Given the description of an element on the screen output the (x, y) to click on. 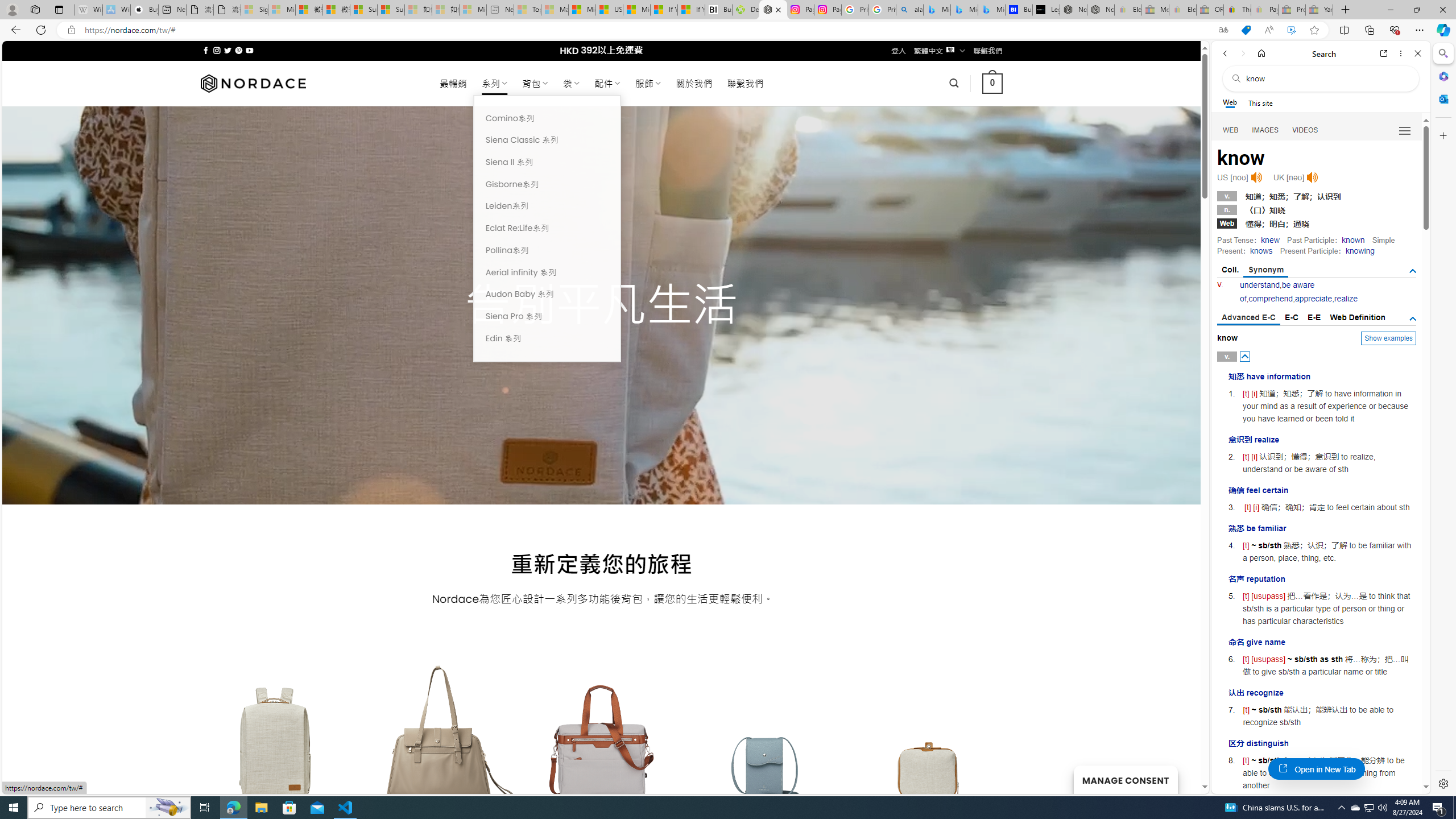
Advanced E-C (1248, 318)
alabama high school quarterback dies - Search (909, 9)
known (1352, 239)
Follow on YouTube (249, 50)
AutomationID: tgdef (1412, 318)
